Given the description of an element on the screen output the (x, y) to click on. 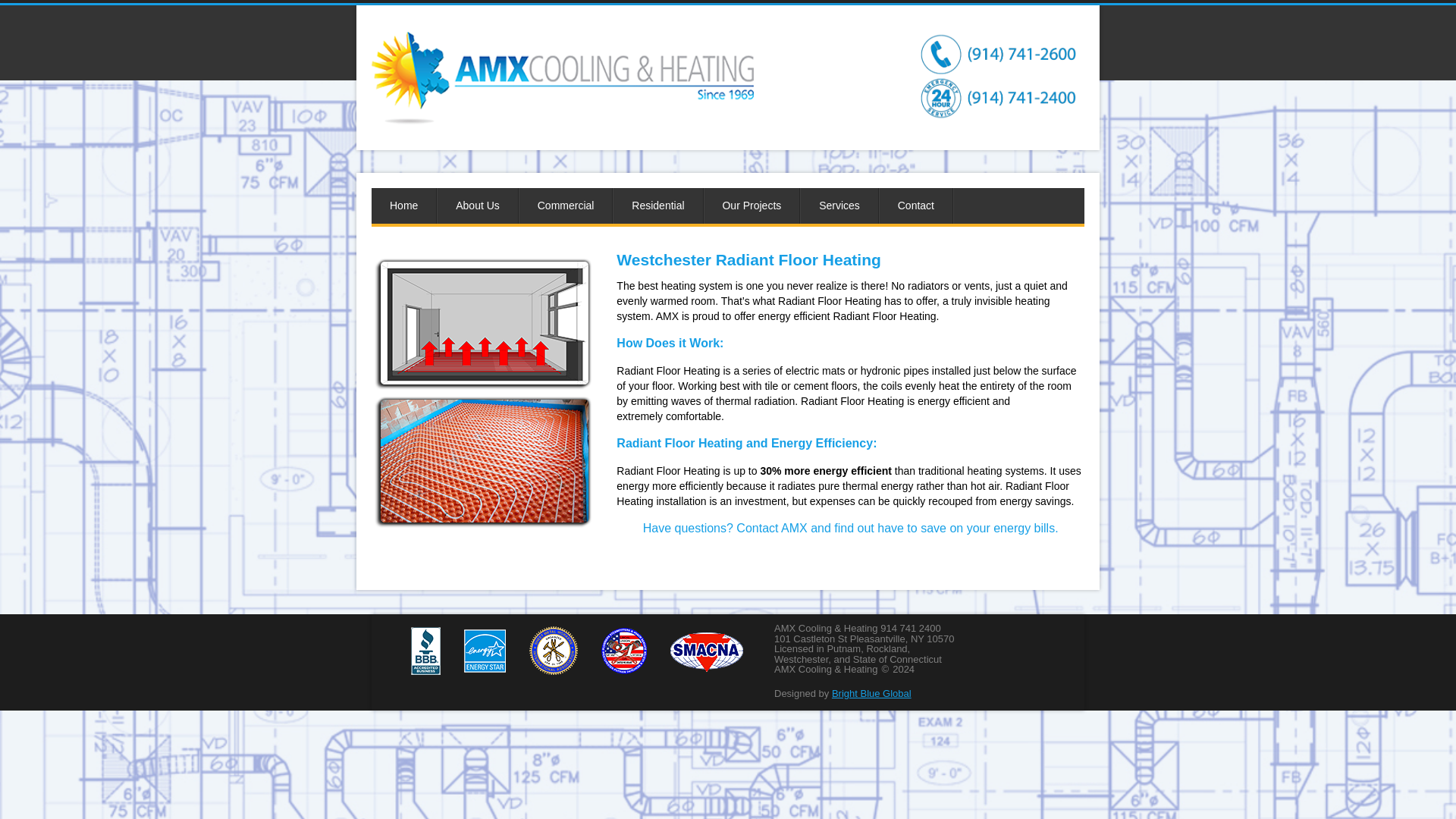
Our Projects (751, 205)
About AMX (478, 205)
Commercial (565, 205)
Residential (656, 205)
Services (838, 205)
About Us (478, 205)
Contact (915, 205)
Bright Blue Global (871, 693)
Home (403, 205)
